Given the description of an element on the screen output the (x, y) to click on. 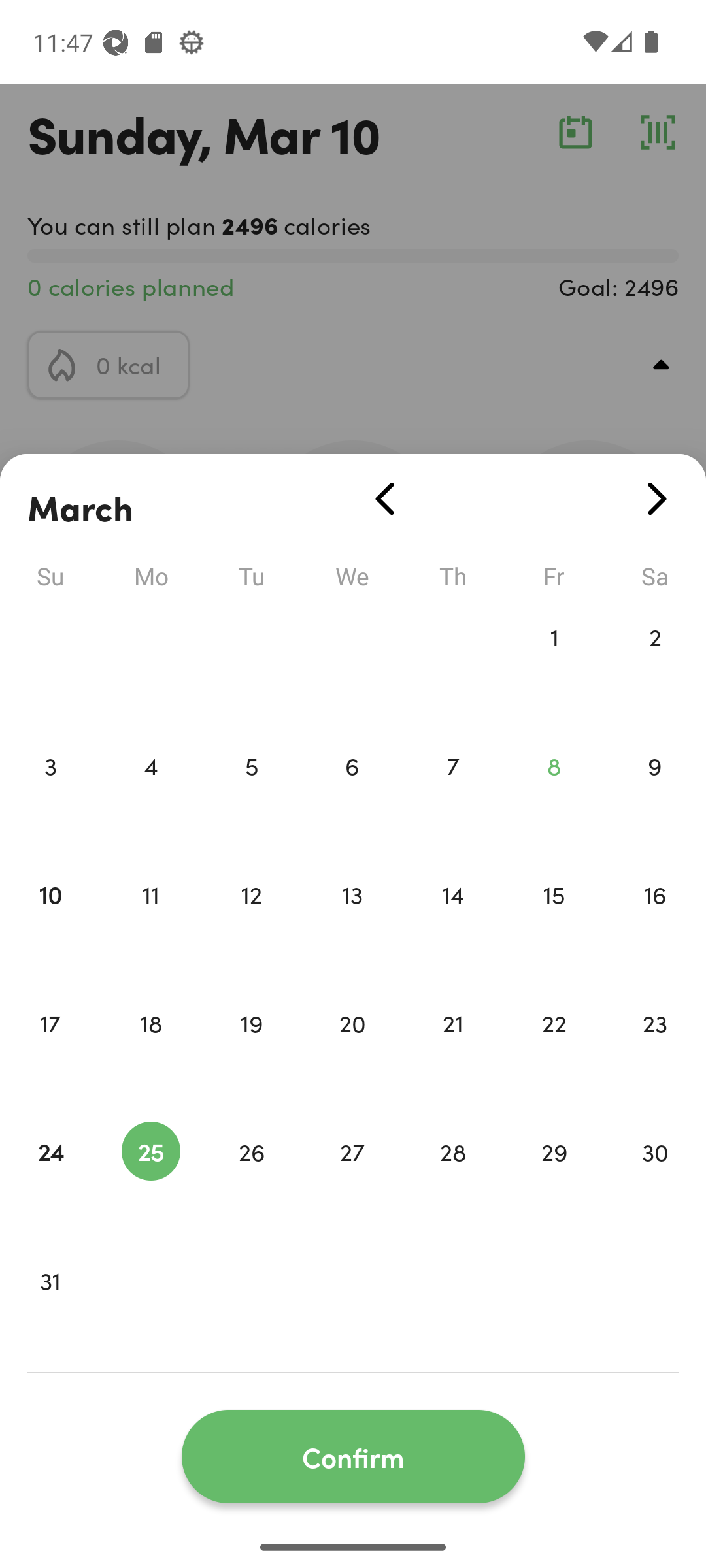
1 (554, 663)
2 (655, 663)
3 (50, 793)
4 (150, 793)
5 (251, 793)
6 (352, 793)
7 (453, 793)
8 (554, 793)
9 (655, 793)
10 (50, 921)
11 (150, 921)
12 (251, 921)
13 (352, 921)
14 (453, 921)
15 (554, 921)
16 (655, 921)
17 (50, 1050)
18 (150, 1050)
19 (251, 1050)
20 (352, 1050)
21 (453, 1050)
22 (554, 1050)
23 (655, 1050)
24 (50, 1178)
25 (150, 1178)
26 (251, 1178)
27 (352, 1178)
28 (453, 1178)
29 (554, 1178)
30 (655, 1178)
31 (50, 1307)
Confirm (353, 1456)
